Given the description of an element on the screen output the (x, y) to click on. 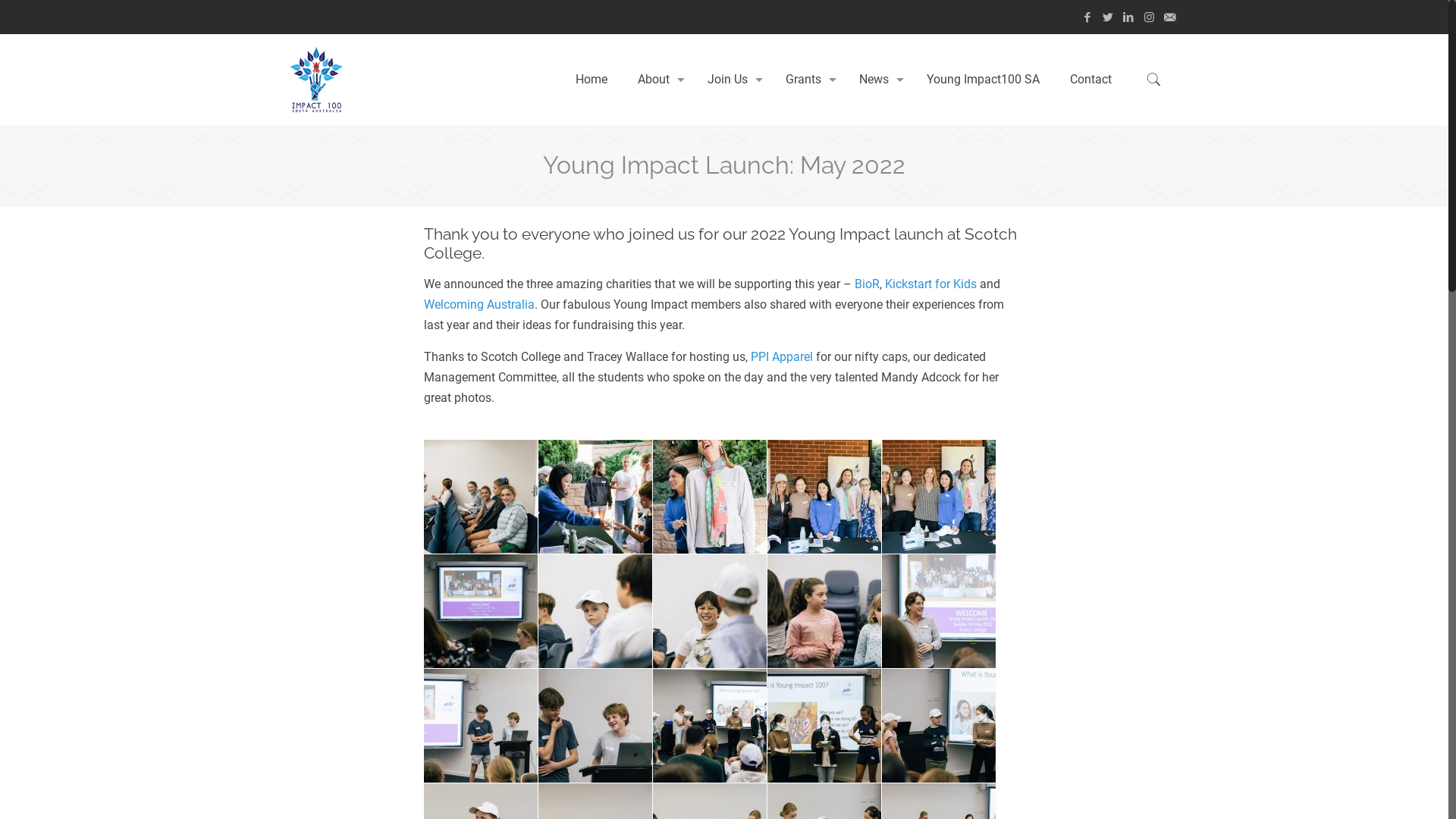
Grants Element type: text (807, 79)
Home Element type: text (591, 79)
YI100Launch2022-12 Element type: hover (595, 725)
YI100Launch2022-15 Element type: hover (938, 725)
Join Us Element type: text (731, 79)
YI100Launch2022-5 Element type: hover (938, 496)
Kickstart for Kids Element type: text (930, 283)
Facebook Element type: hover (1087, 17)
YI100Launch2022-9 Element type: hover (824, 611)
Contact Element type: text (1090, 79)
YI100Launch2022-4 Element type: hover (824, 496)
Twitter Element type: hover (1108, 17)
Impact100 SA Element type: hover (315, 79)
YI100Launch2022-6 Element type: hover (480, 611)
YI100Launch2022-2 Element type: hover (595, 496)
Welcoming Australia Element type: text (478, 304)
YI100Launch2022-3 Element type: hover (709, 496)
Young Impact100 SA Element type: text (982, 79)
News Element type: text (877, 79)
Instagram Element type: hover (1149, 17)
BioR Element type: text (866, 283)
YI100Launch2022-13 Element type: hover (709, 725)
YI100Launch2022-11 Element type: hover (480, 725)
YI100Launch2022-1 Element type: hover (480, 496)
YI100Launch2022-14 Element type: hover (824, 725)
LinkedIn Element type: hover (1128, 17)
PPI Apparel Element type: text (781, 356)
YI100Launch2022-10 Element type: hover (938, 611)
YI100Launch2022-7 Element type: hover (595, 611)
YI100Launch2022-8 Element type: hover (709, 611)
About Element type: text (657, 79)
